Given the description of an element on the screen output the (x, y) to click on. 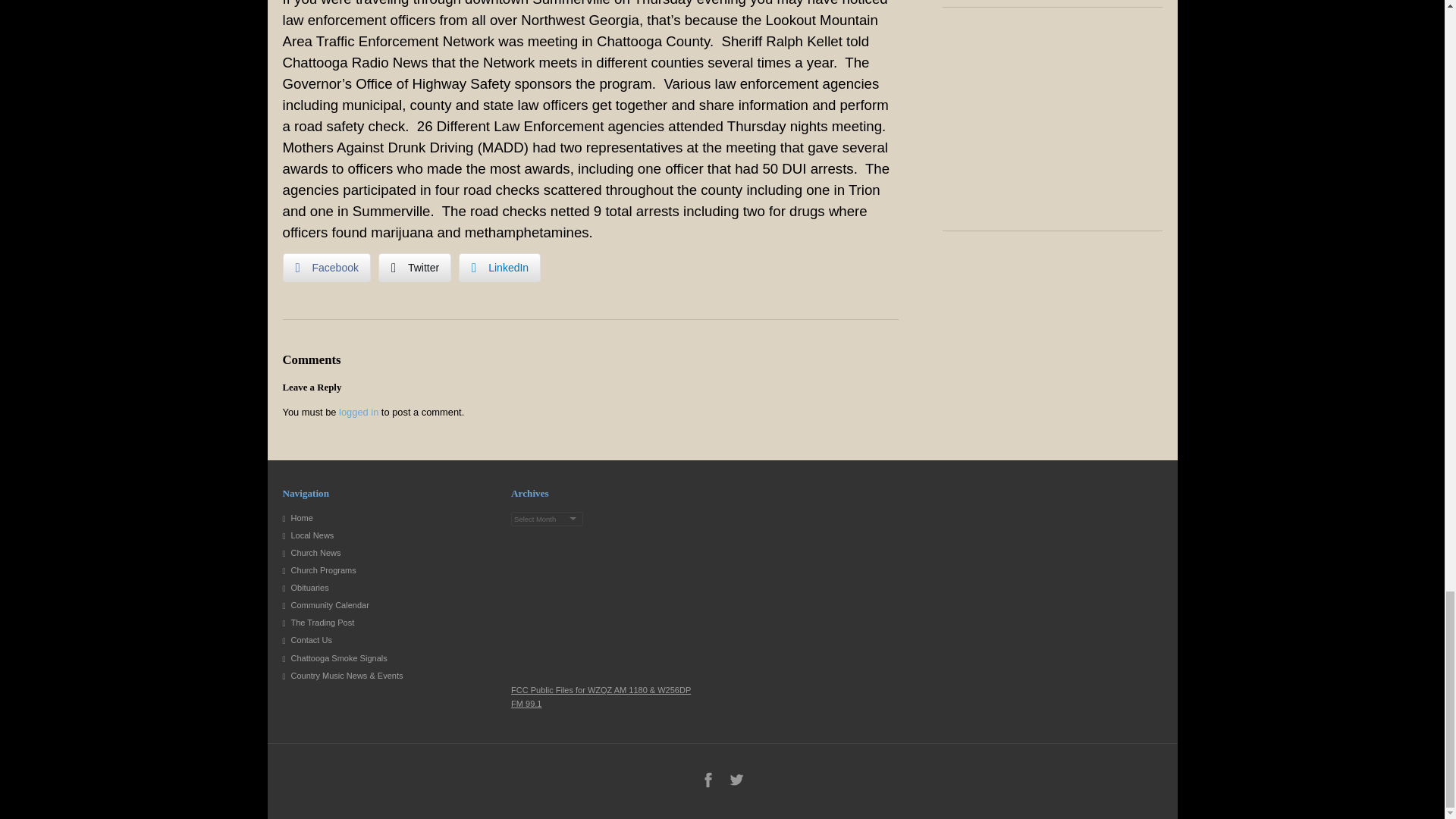
Twitter (414, 267)
LinkedIn (499, 267)
Facebook (325, 267)
logged in (358, 411)
Facebook (707, 779)
Twitter (735, 779)
